Given the description of an element on the screen output the (x, y) to click on. 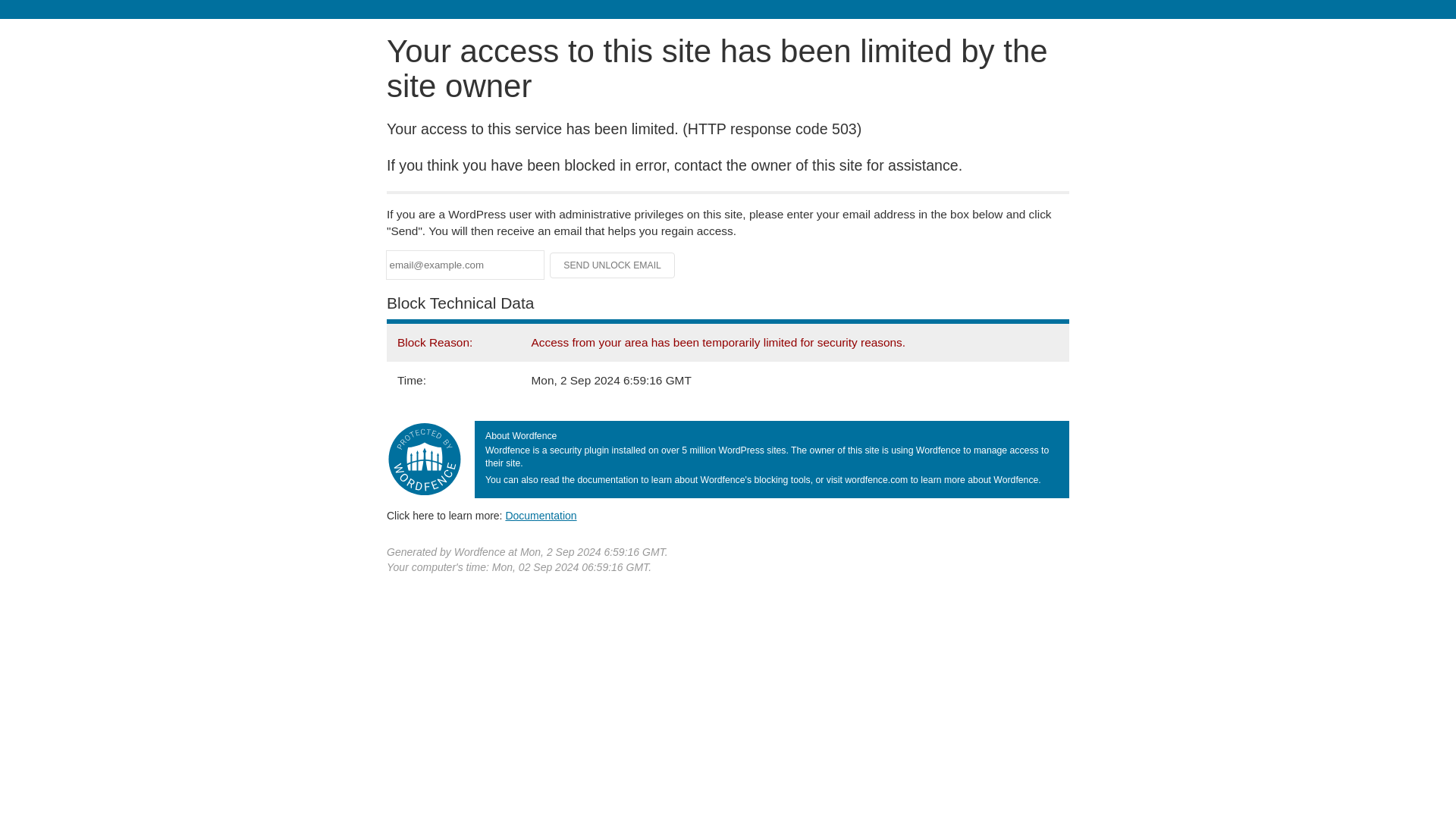
Send Unlock Email (612, 265)
Send Unlock Email (612, 265)
Documentation (540, 515)
